Given the description of an element on the screen output the (x, y) to click on. 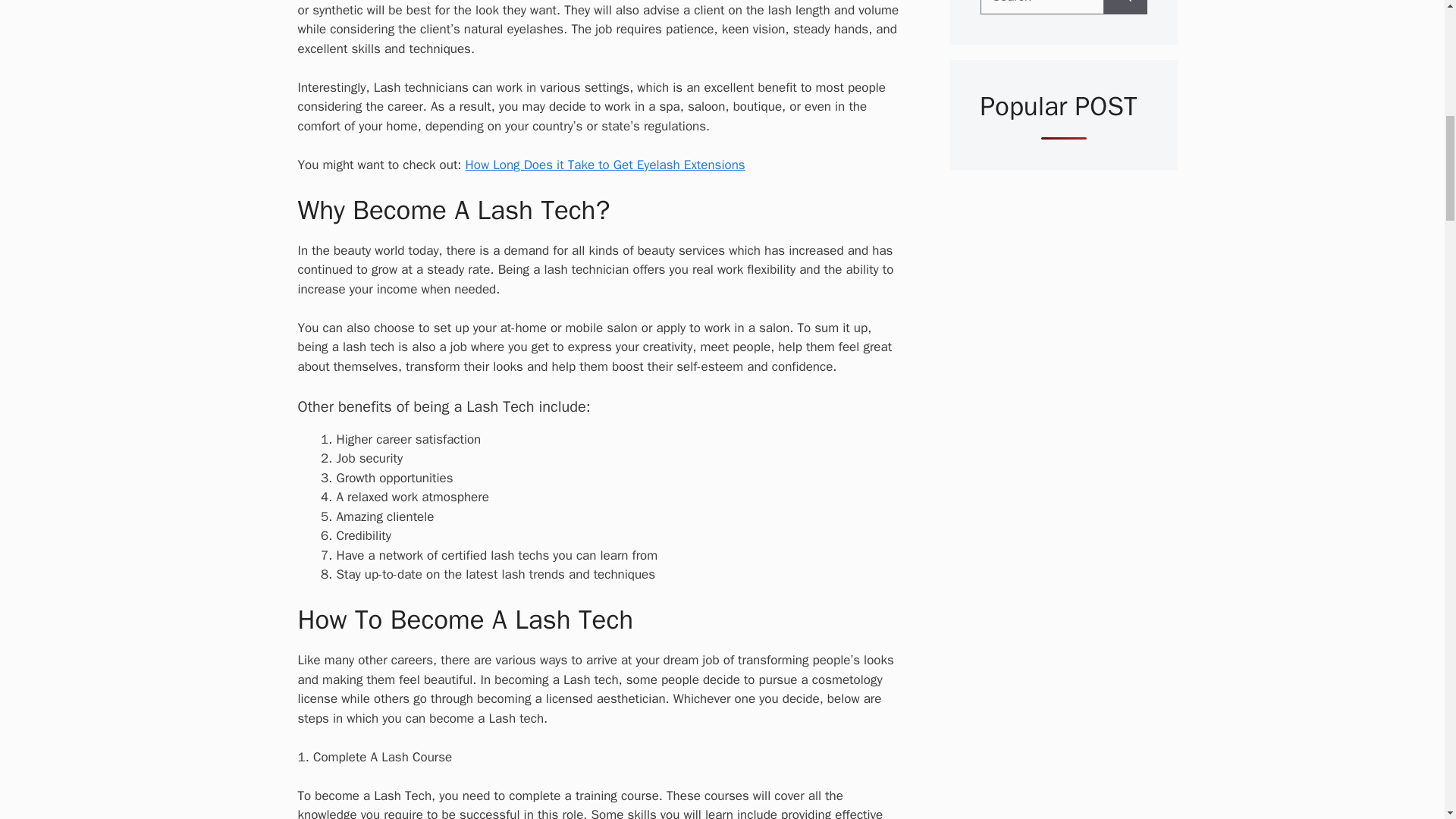
How Long Does it Take to Get Eyelash Extensions (605, 164)
Search for: (1041, 7)
